Given the description of an element on the screen output the (x, y) to click on. 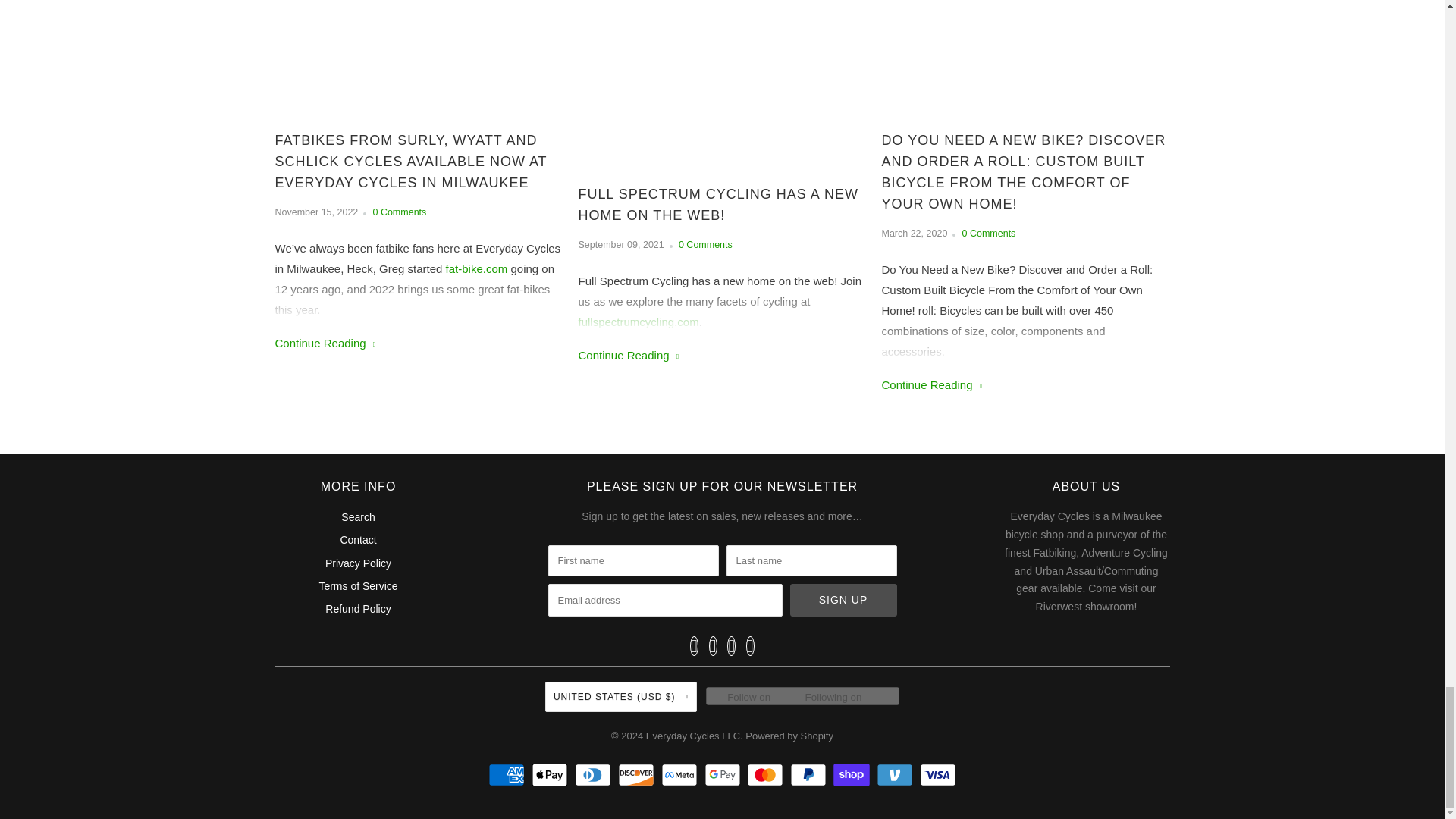
Shop Pay (852, 774)
Diners Club (594, 774)
Venmo (896, 774)
Full Spectrum Cycling Has a New Home on the Web! (722, 204)
Full Spectrum Cycling Has a New Home on the Web! (628, 354)
Meta Pay (681, 774)
full spectrum cycling (638, 321)
Sign Up (843, 599)
Full Spectrum Cycling Has a New Home on the Web! (722, 91)
American Express (507, 774)
Discover (637, 774)
PayPal (809, 774)
Mastercard (766, 774)
